Given the description of an element on the screen output the (x, y) to click on. 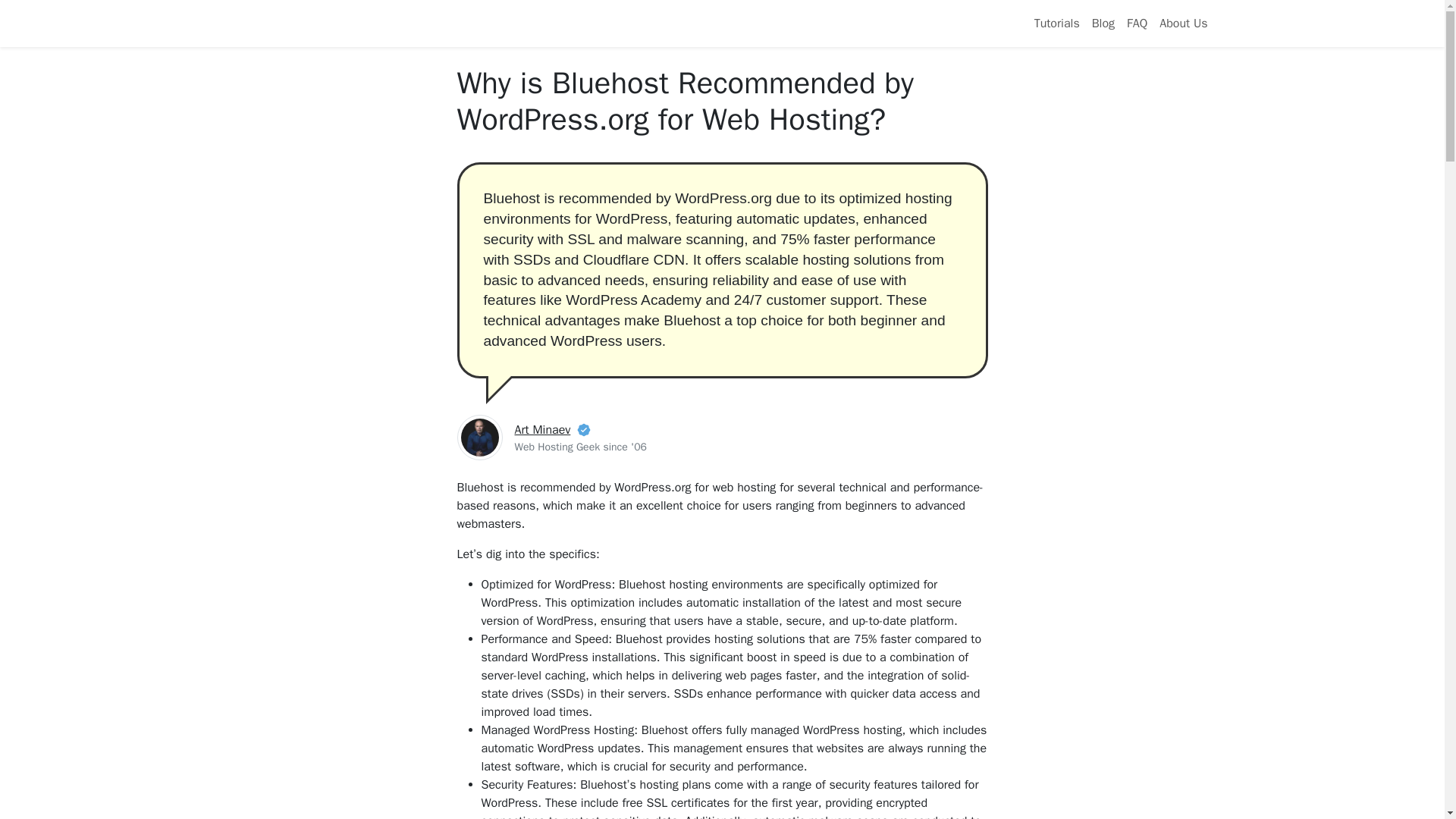
Blog (1103, 23)
Tutorials (1056, 23)
Blog (1103, 23)
Tutorials (1056, 23)
FAQ (1137, 23)
Art Minaev (541, 428)
About Us (1182, 23)
FAQ (1137, 23)
About Us (1182, 23)
